Given the description of an element on the screen output the (x, y) to click on. 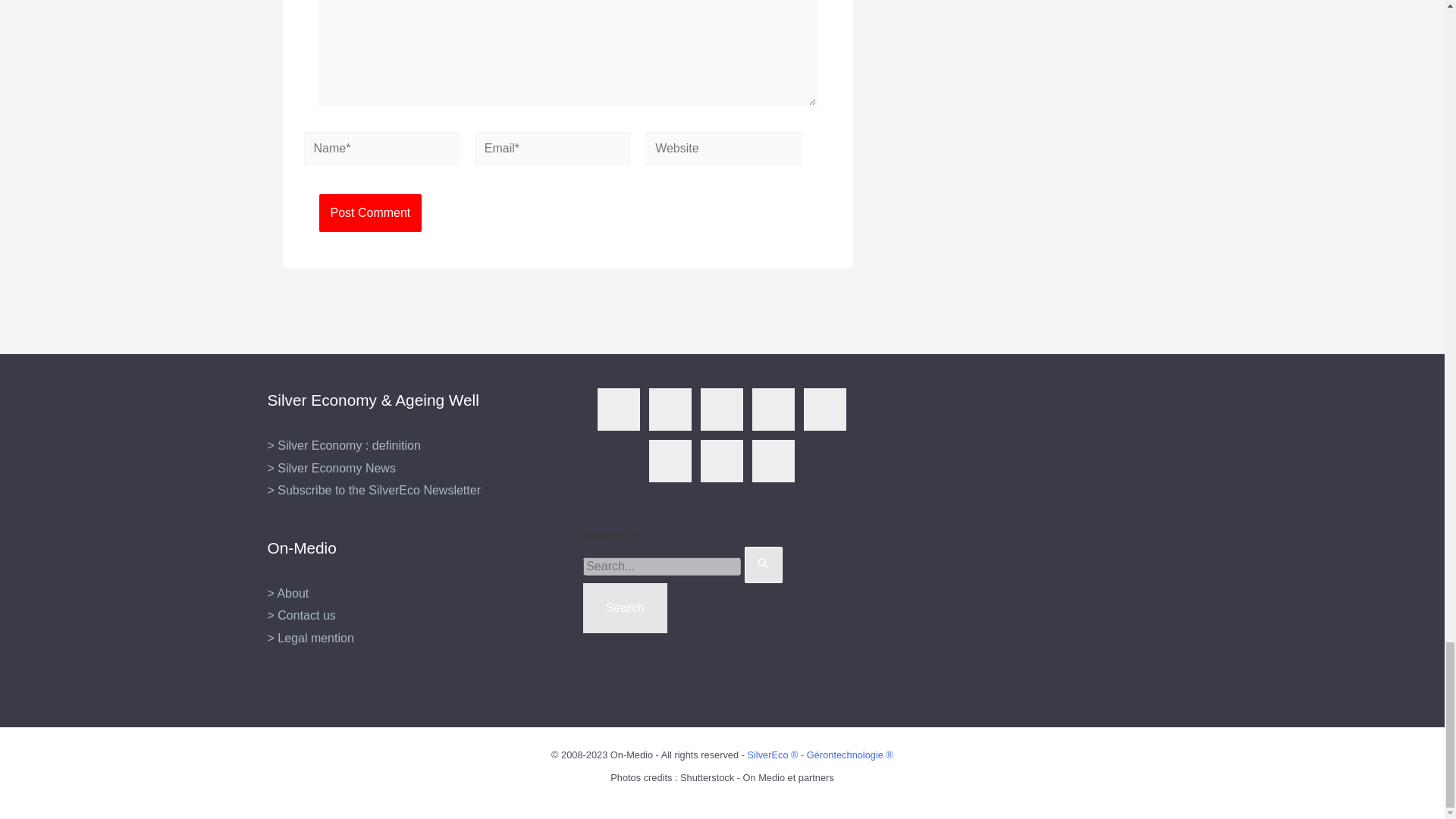
Post Comment (370, 212)
Search (624, 608)
Search (624, 608)
